Given the description of an element on the screen output the (x, y) to click on. 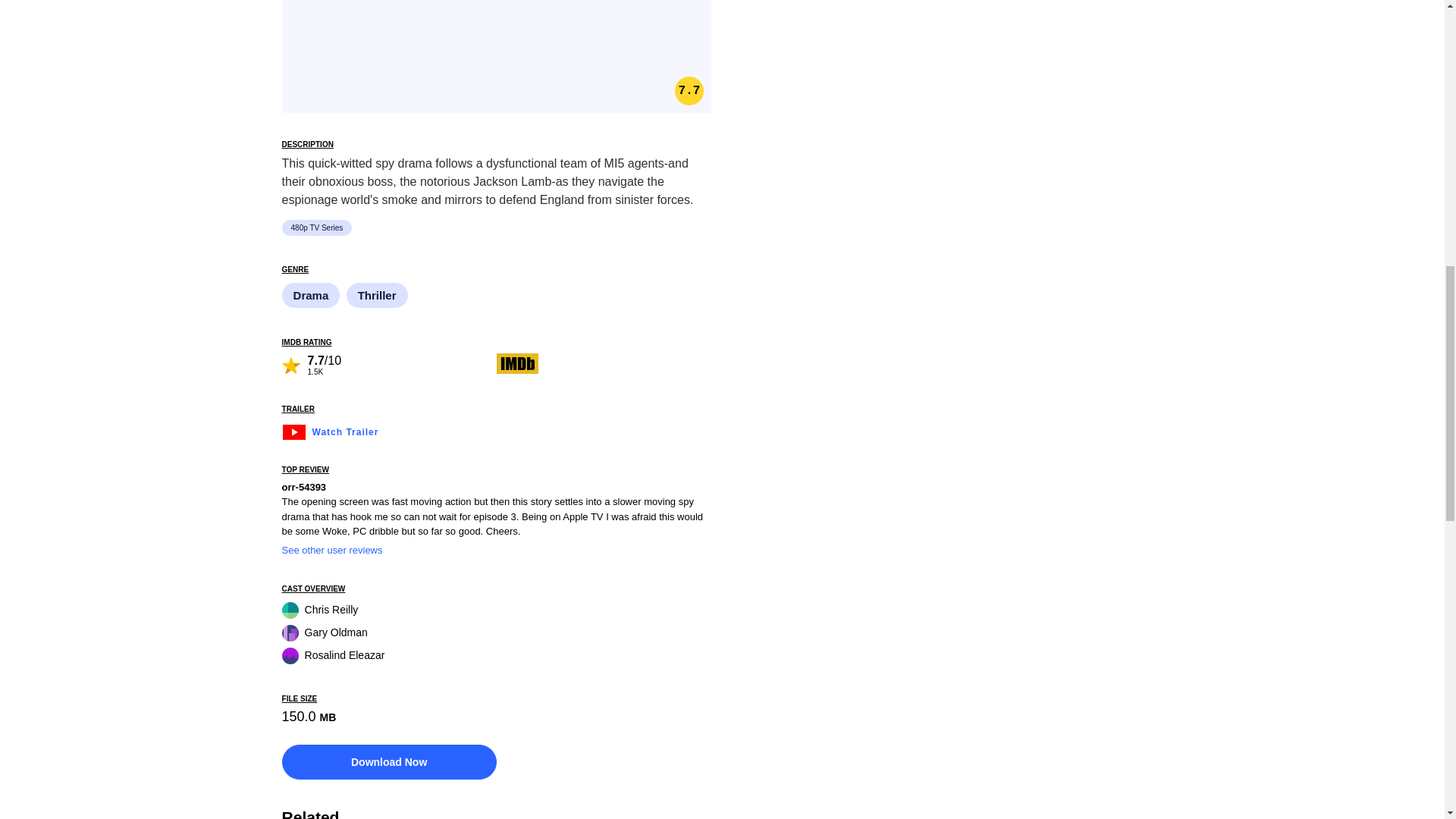
Drama (312, 295)
See other user reviews (332, 550)
Thriller (378, 295)
Download Now (389, 761)
Aggregate Rating - 7.7 (689, 90)
Watch Trailer (330, 430)
480p TV Series (319, 227)
IMDb info (517, 363)
User Reviews (389, 364)
